Given the description of an element on the screen output the (x, y) to click on. 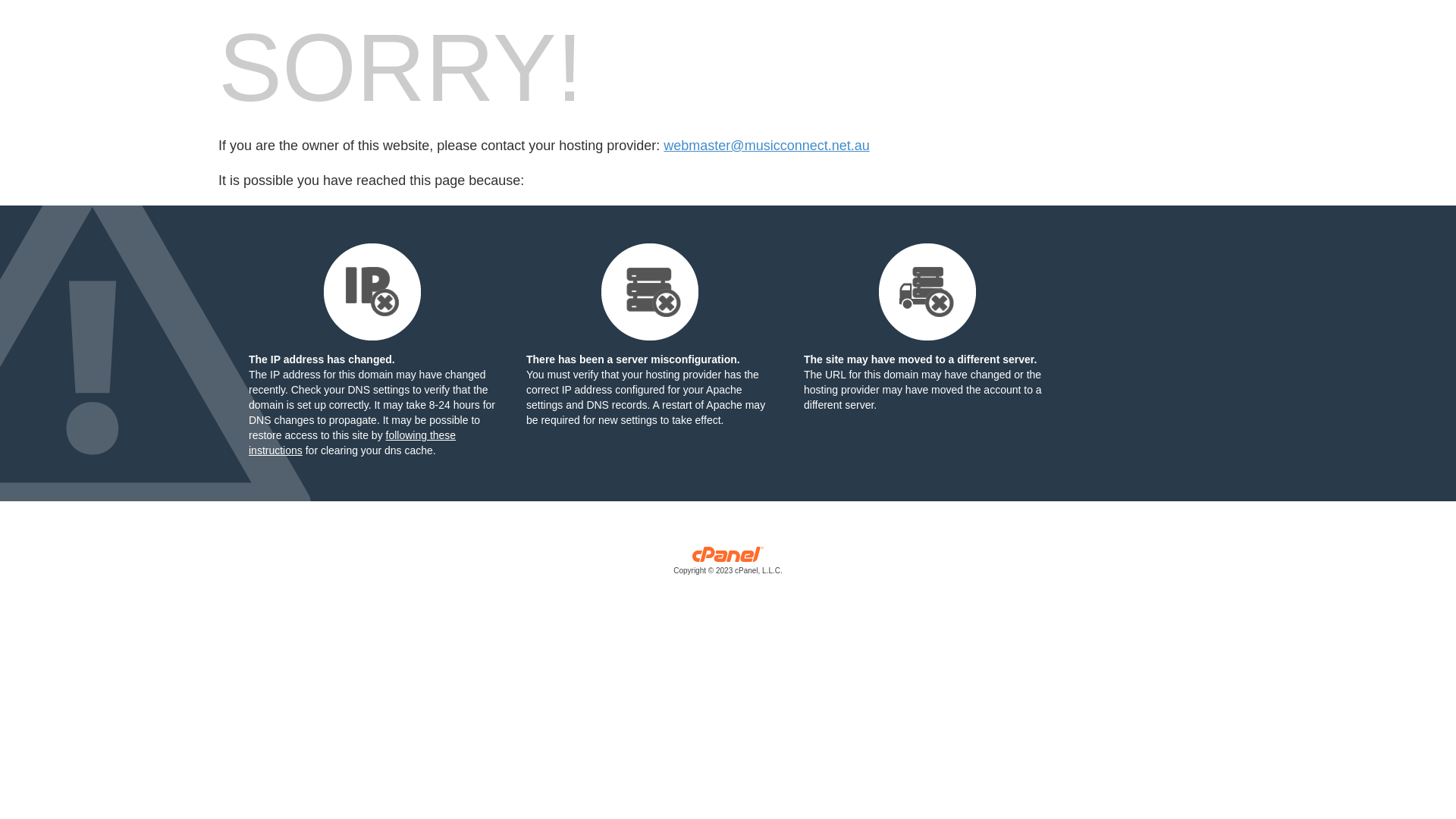
webmaster@musicconnect.net.au Element type: text (766, 145)
following these instructions Element type: text (351, 442)
